Given the description of an element on the screen output the (x, y) to click on. 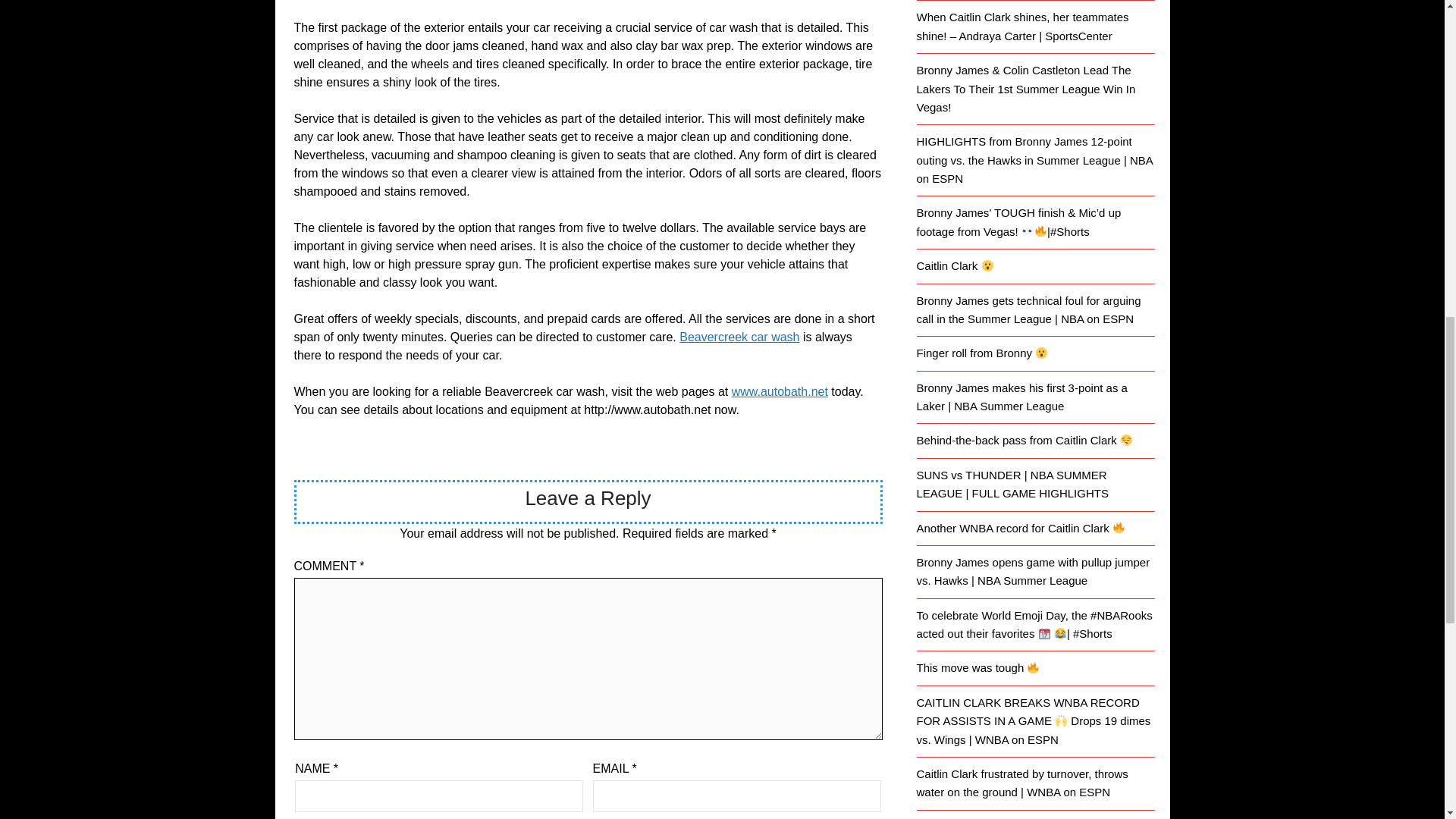
Beavercreek car wash (739, 336)
Another WNBA record for Caitlin Clark (1020, 527)
Behind-the-back pass from Caitlin Clark (1023, 440)
Finger roll from Bronny (981, 352)
Caitlin Clark (953, 265)
This move was tough (977, 667)
www.autobath.net (780, 391)
